Given the description of an element on the screen output the (x, y) to click on. 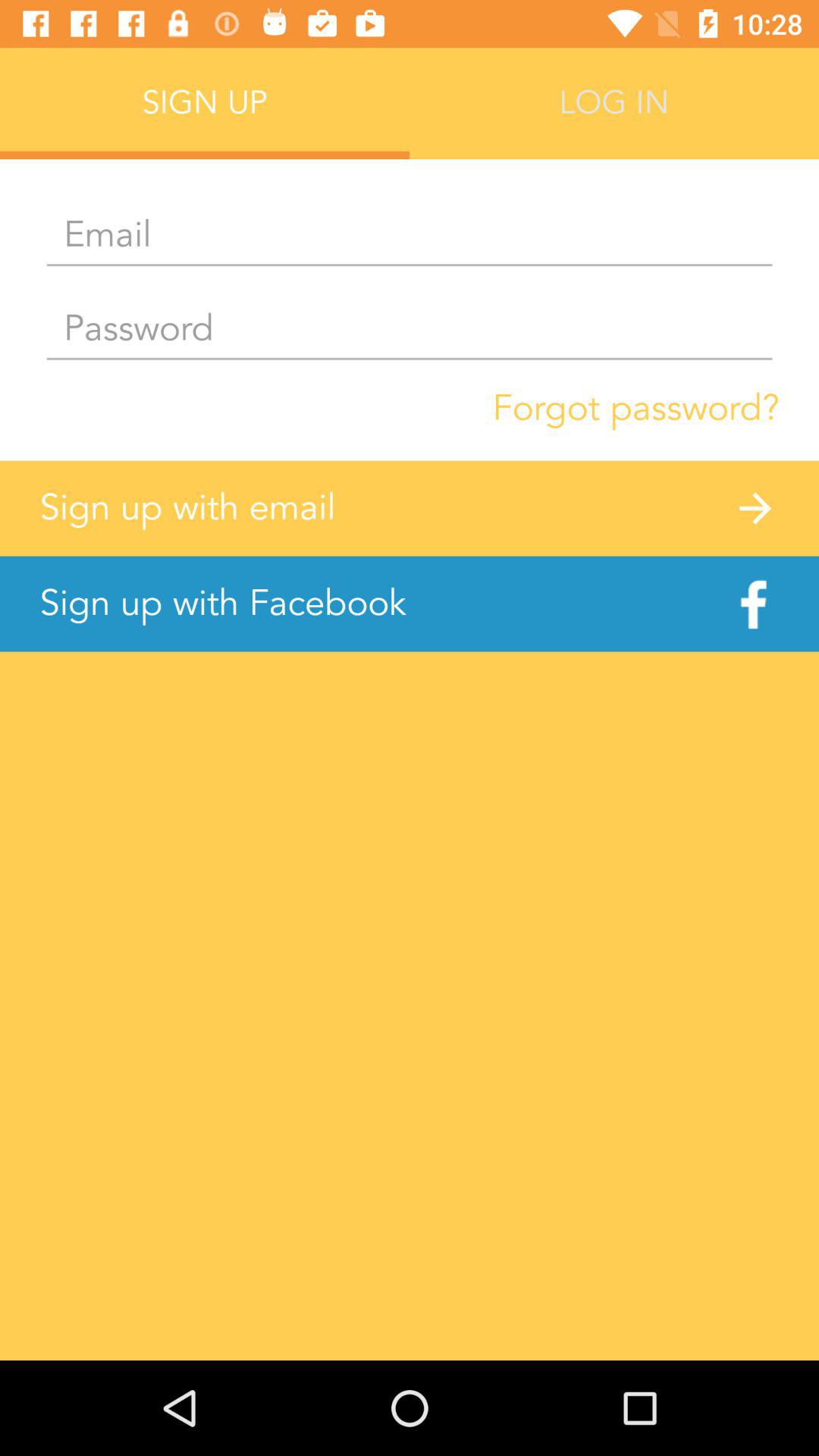
select email (409, 236)
